Given the description of an element on the screen output the (x, y) to click on. 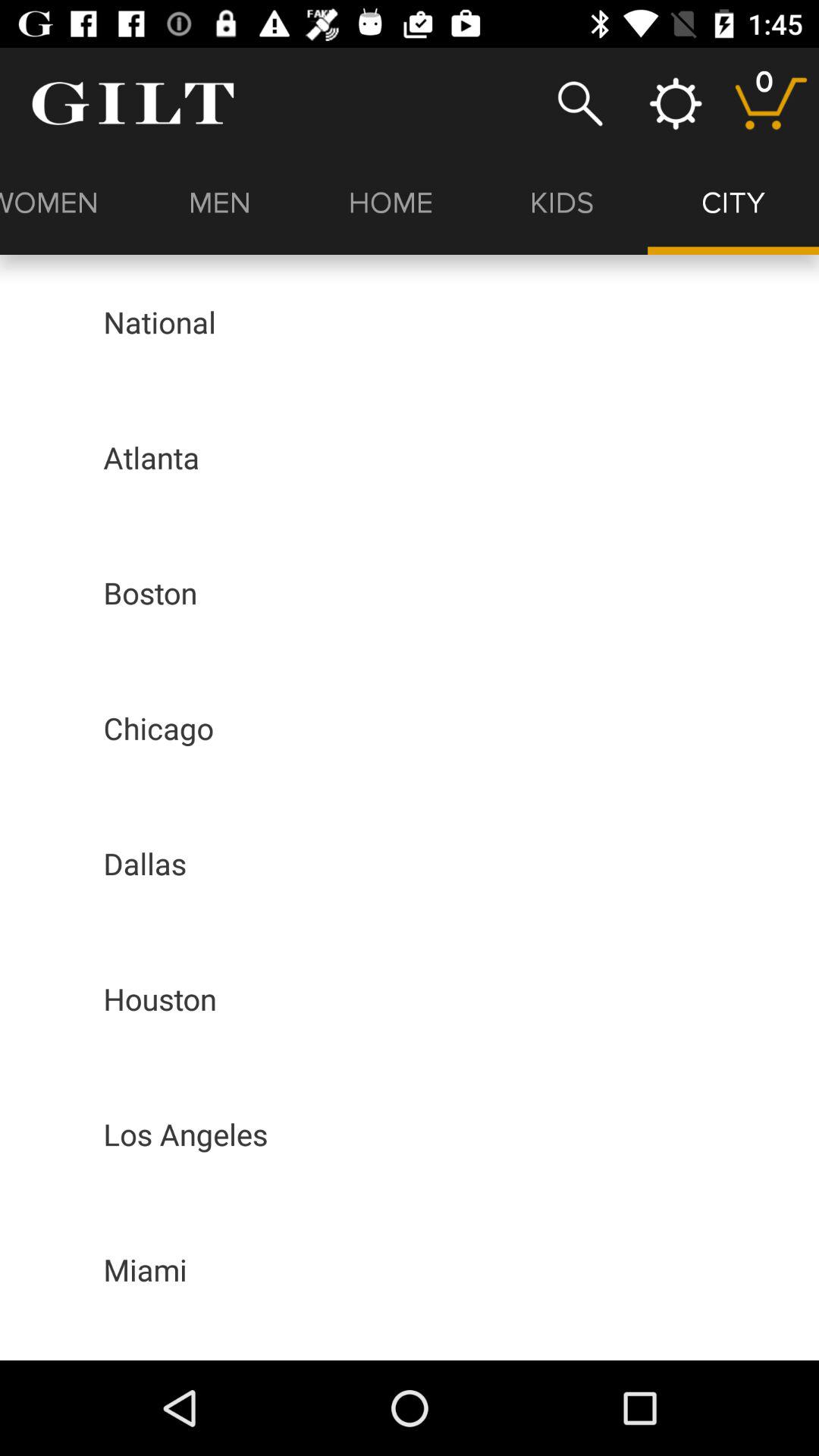
click the item above the atlanta icon (159, 322)
